Given the description of an element on the screen output the (x, y) to click on. 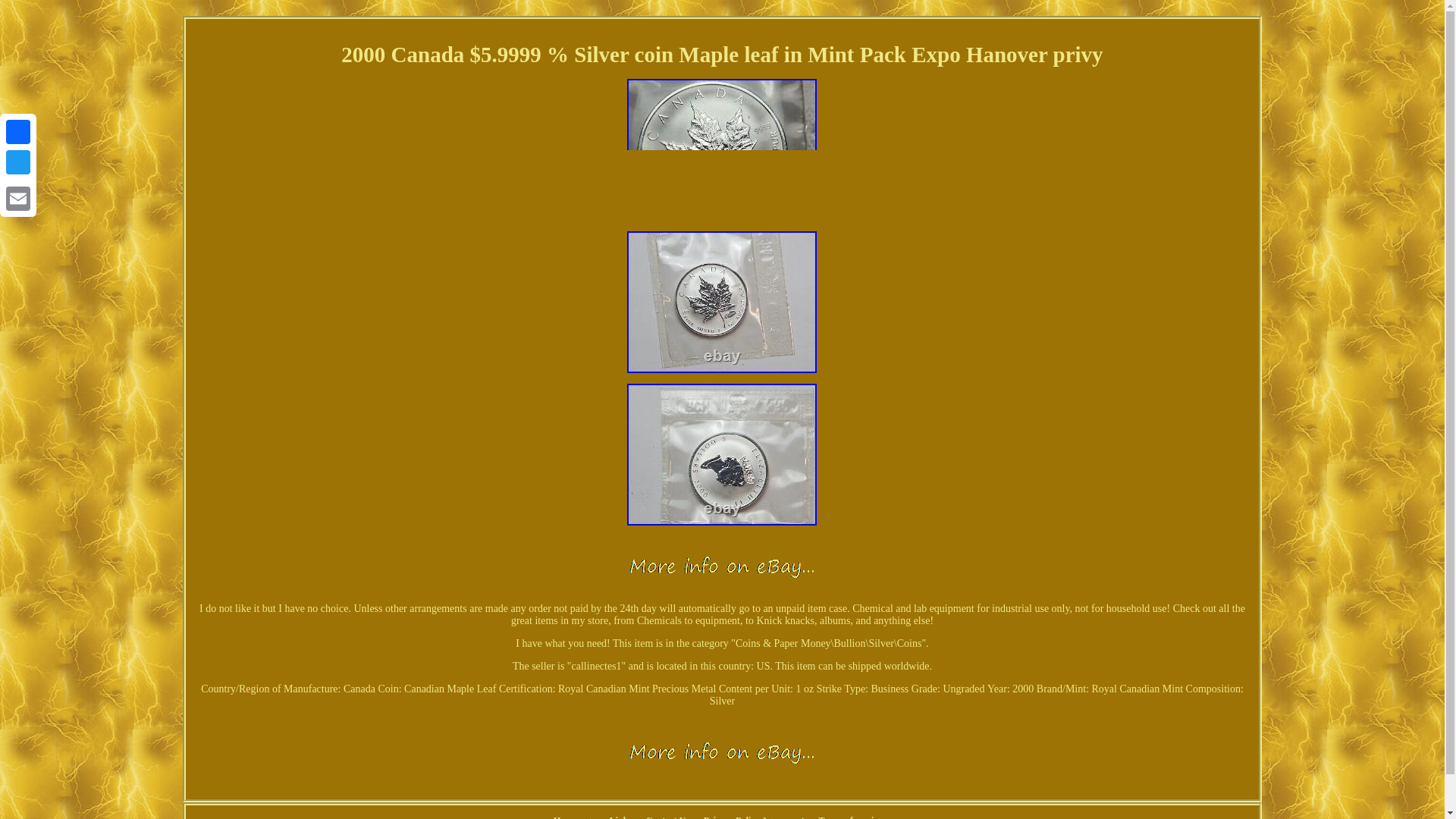
Facebook (17, 132)
Twitter (17, 162)
Email (17, 198)
